Given the description of an element on the screen output the (x, y) to click on. 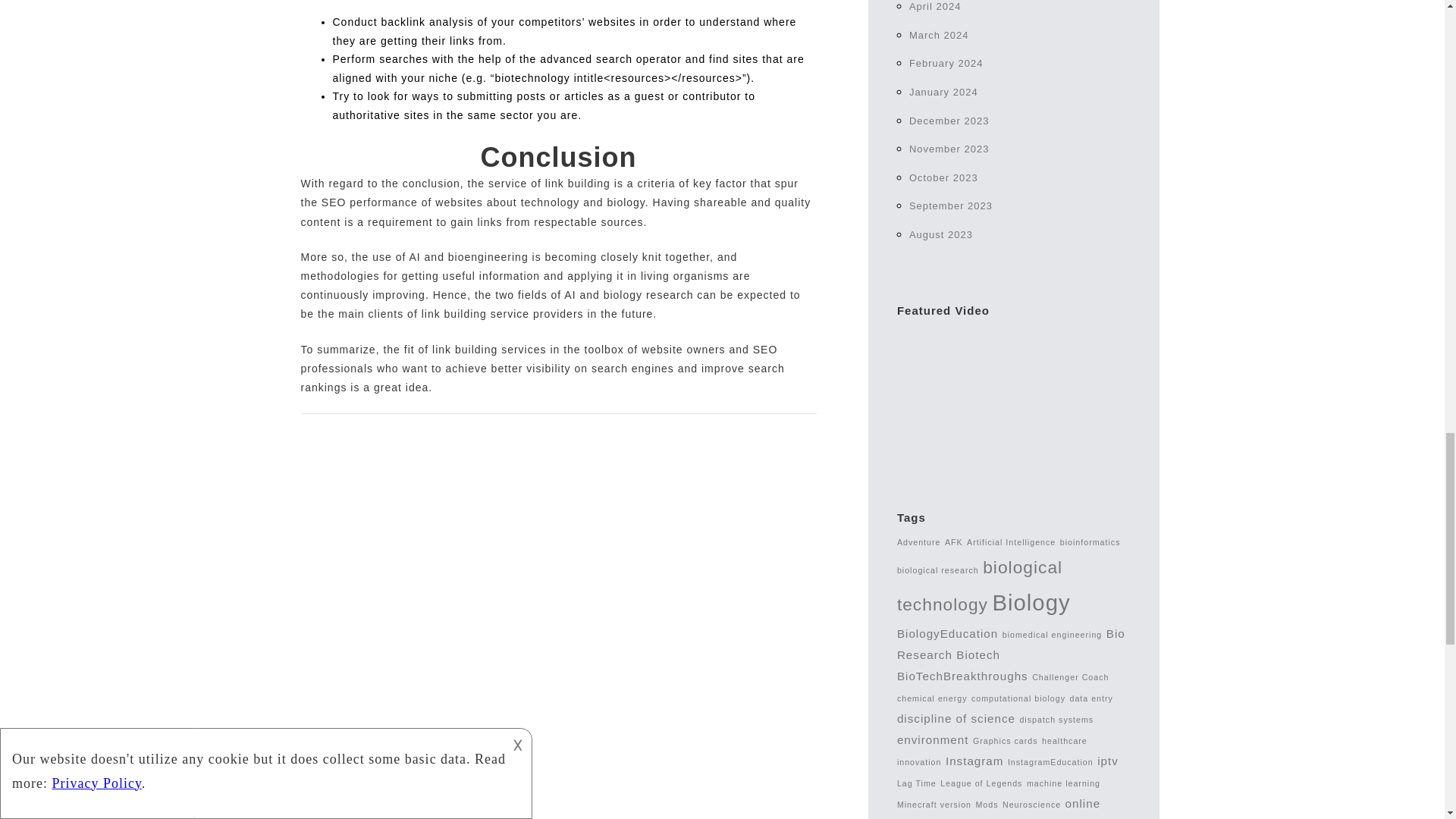
February 2024 (946, 62)
Artificial Intelligence (1010, 542)
AFK (953, 542)
October 2023 (943, 177)
September 2023 (950, 205)
March 2024 (938, 34)
November 2023 (949, 148)
Adventure (918, 542)
December 2023 (949, 120)
August 2023 (940, 234)
January 2024 (943, 91)
What are the Branches of Biology? (1012, 398)
April 2024 (934, 6)
